Given the description of an element on the screen output the (x, y) to click on. 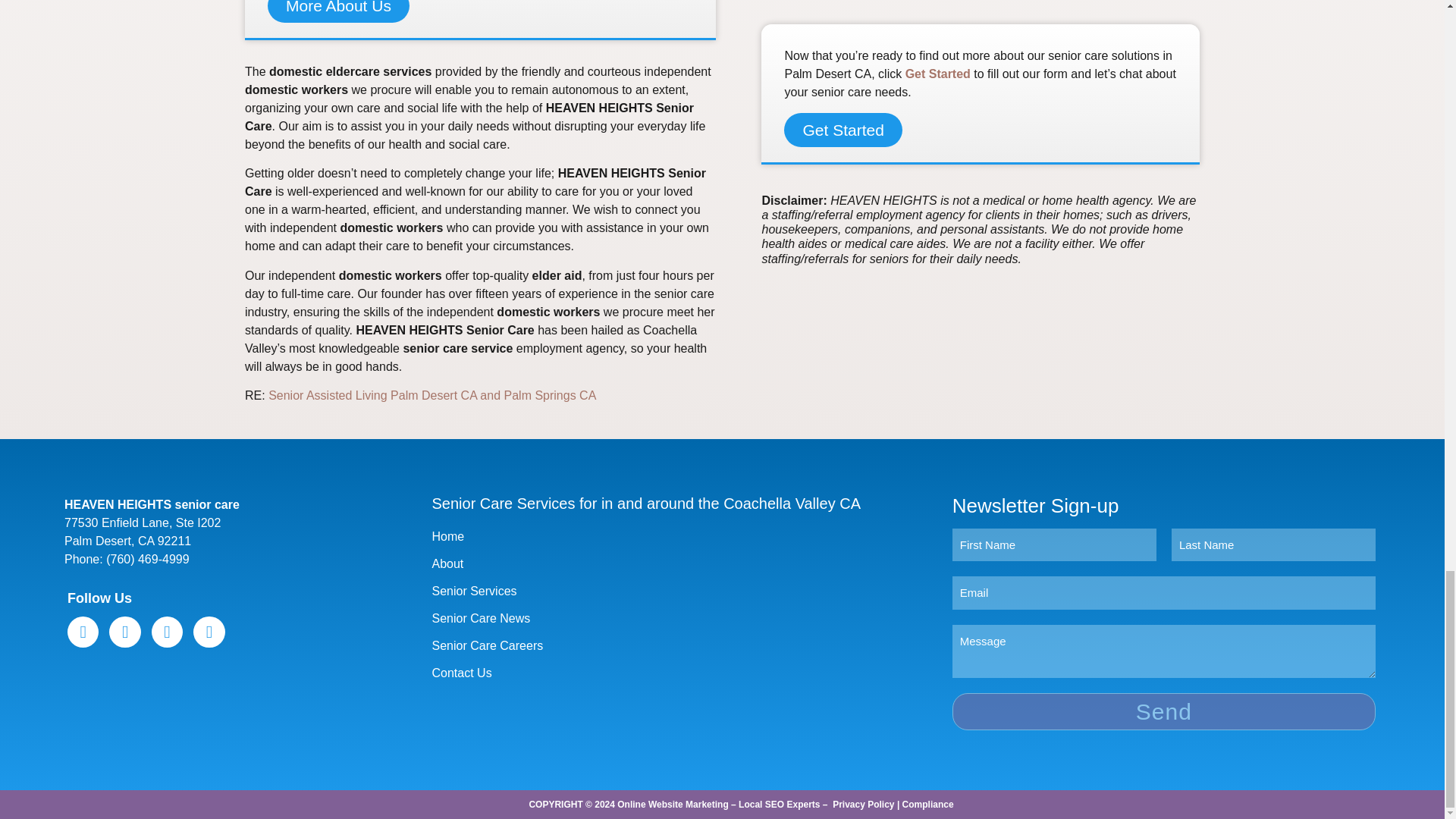
Online Website Marketing - Local SEO Experts (718, 804)
Senior Assisted Living Palm Desert CA and Palm Springs CA (431, 395)
Privacy Policy (862, 804)
More About Us (338, 11)
Get Started (938, 73)
Compliance (927, 804)
Get Started (842, 130)
